Given the description of an element on the screen output the (x, y) to click on. 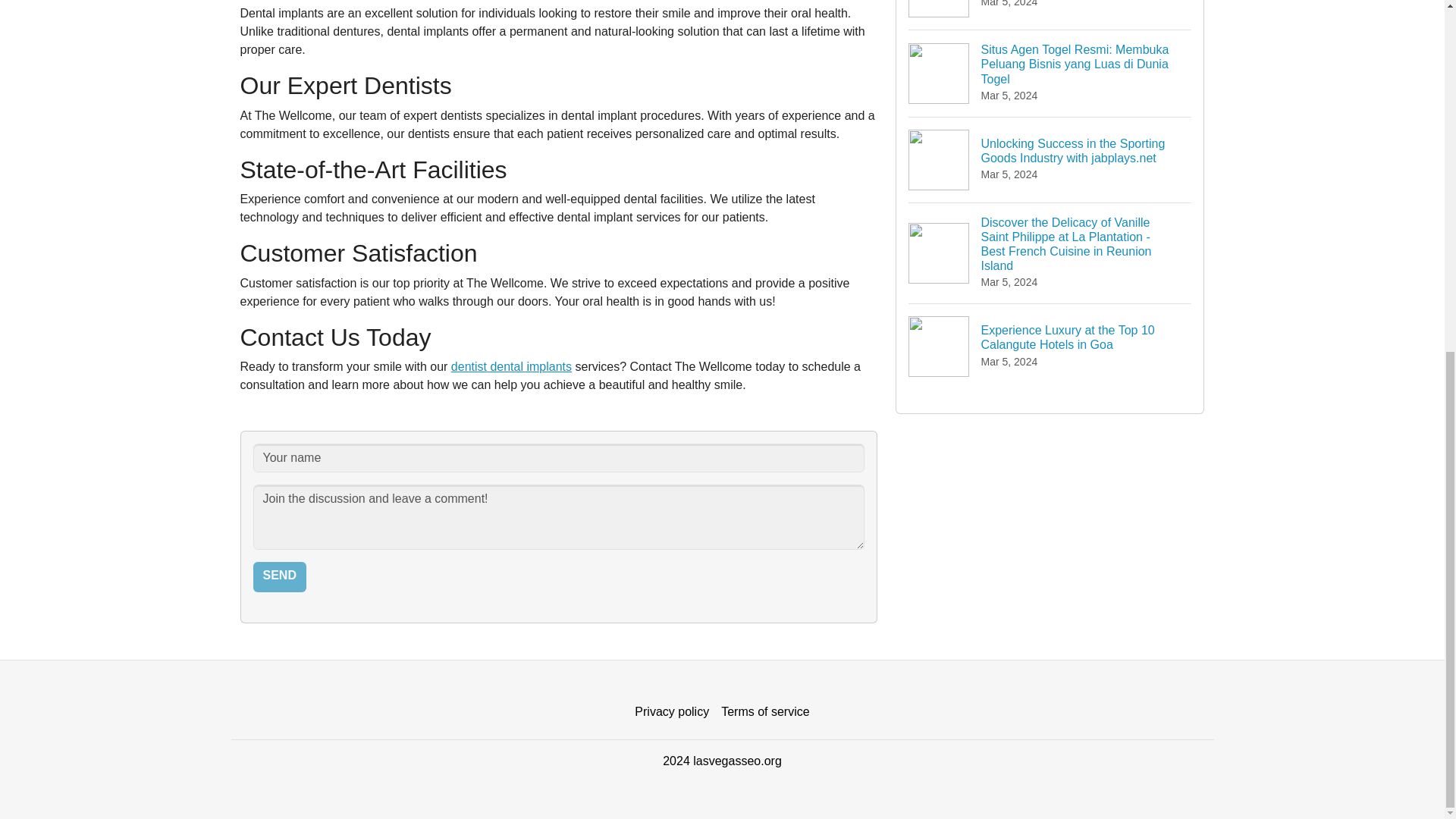
Privacy policy (671, 711)
Send (279, 576)
Terms of service (764, 711)
dentist dental implants (511, 366)
Send (279, 576)
